Given the description of an element on the screen output the (x, y) to click on. 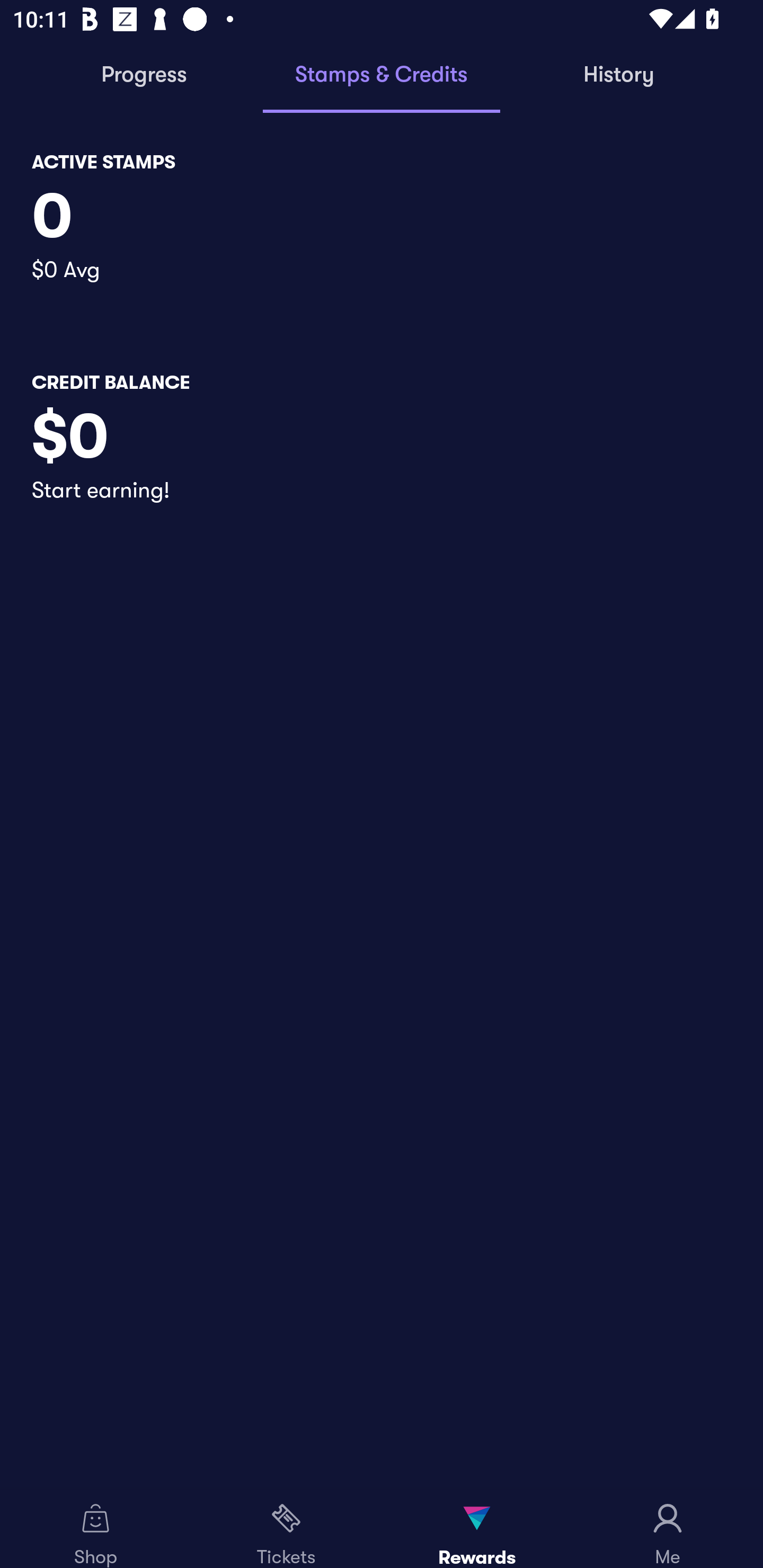
Progress (143, 74)
Stamps & Credits (381, 74)
History (618, 74)
Shop (95, 1529)
Tickets (285, 1529)
Rewards (476, 1529)
Me (667, 1529)
